Given the description of an element on the screen output the (x, y) to click on. 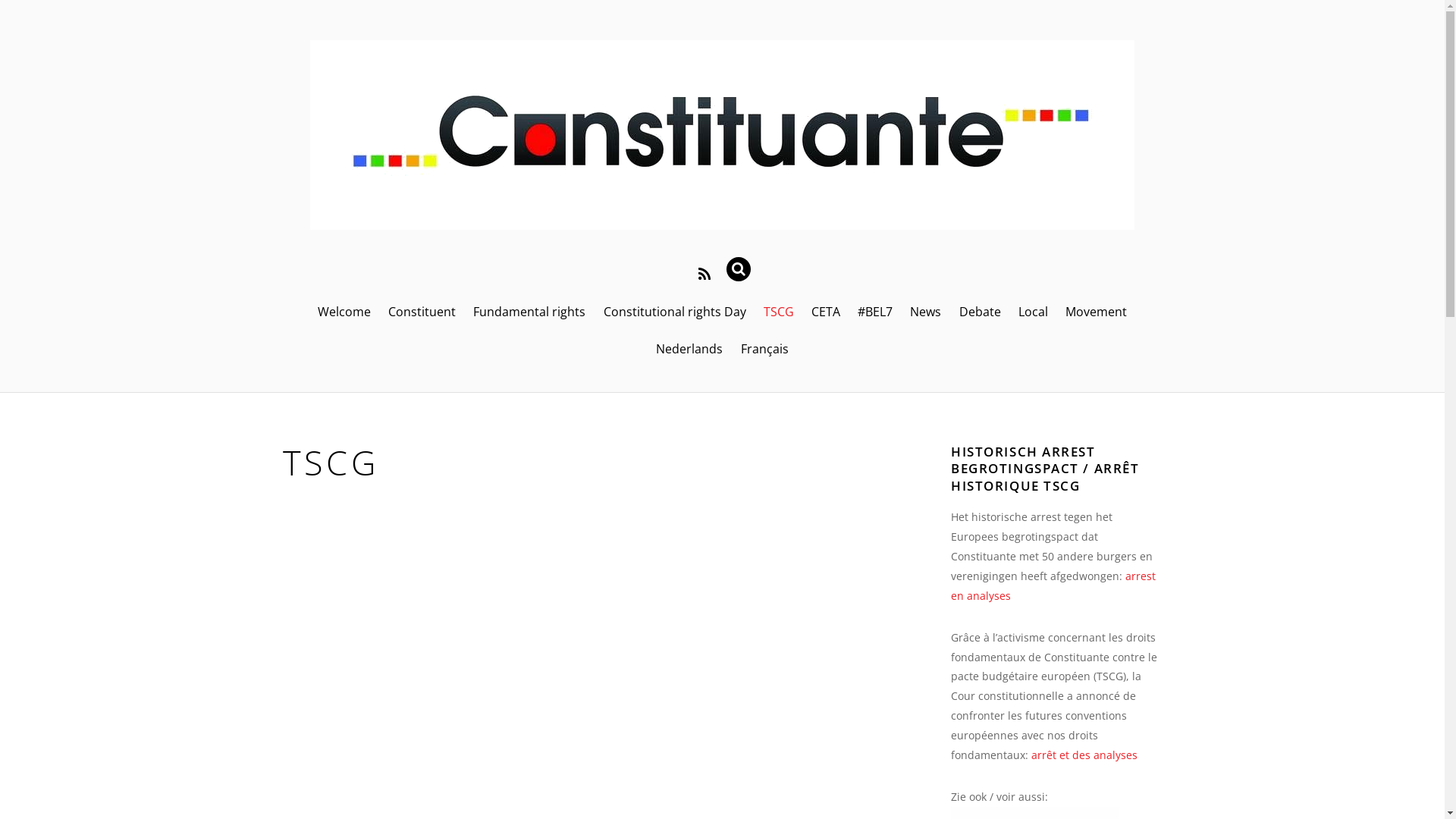
#BEL7 Element type: text (875, 312)
Debate Element type: text (979, 312)
arrest en analyses Element type: text (1052, 585)
Movement Element type: text (1095, 312)
Local Element type: text (1032, 312)
CETA Element type: text (825, 312)
Search Element type: hover (745, 269)
Nederlands Element type: text (689, 348)
Constituante Element type: hover (722, 217)
Constituent Element type: text (422, 312)
Fundamental rights Element type: text (529, 312)
Constituante Element type: hover (722, 134)
Constitutional rights Day Element type: text (674, 312)
News Element type: text (925, 312)
TSCG Element type: text (778, 312)
Welcome Element type: text (343, 312)
